Given the description of an element on the screen output the (x, y) to click on. 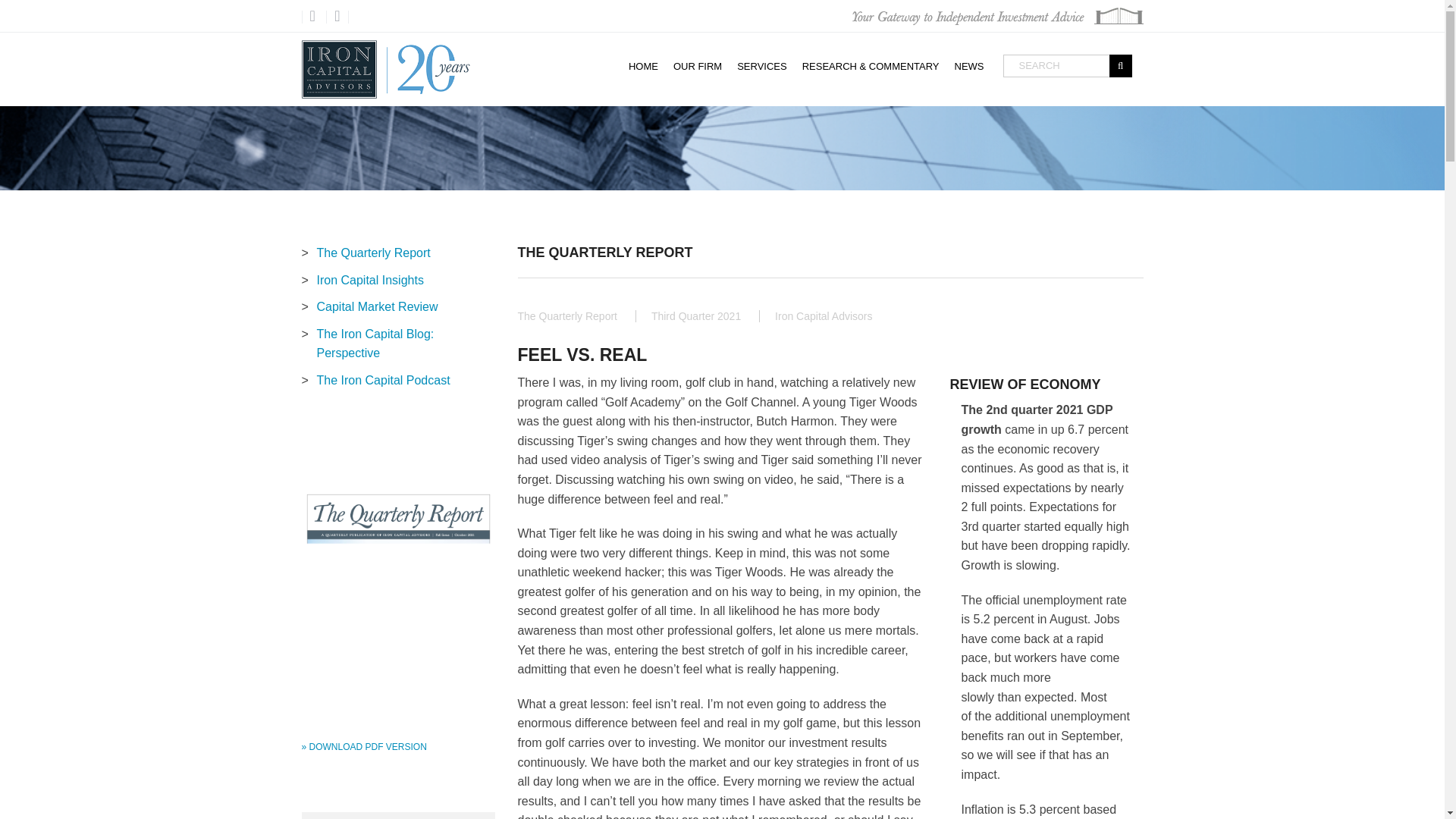
Iron Capital Insights (398, 280)
The Iron Capital Podcast (398, 380)
The Quarterly Report (398, 252)
The Iron Capital Blog: Perspective (398, 343)
OUR FIRM (697, 65)
Capital Market Review (398, 306)
SERVICES (761, 65)
